Given the description of an element on the screen output the (x, y) to click on. 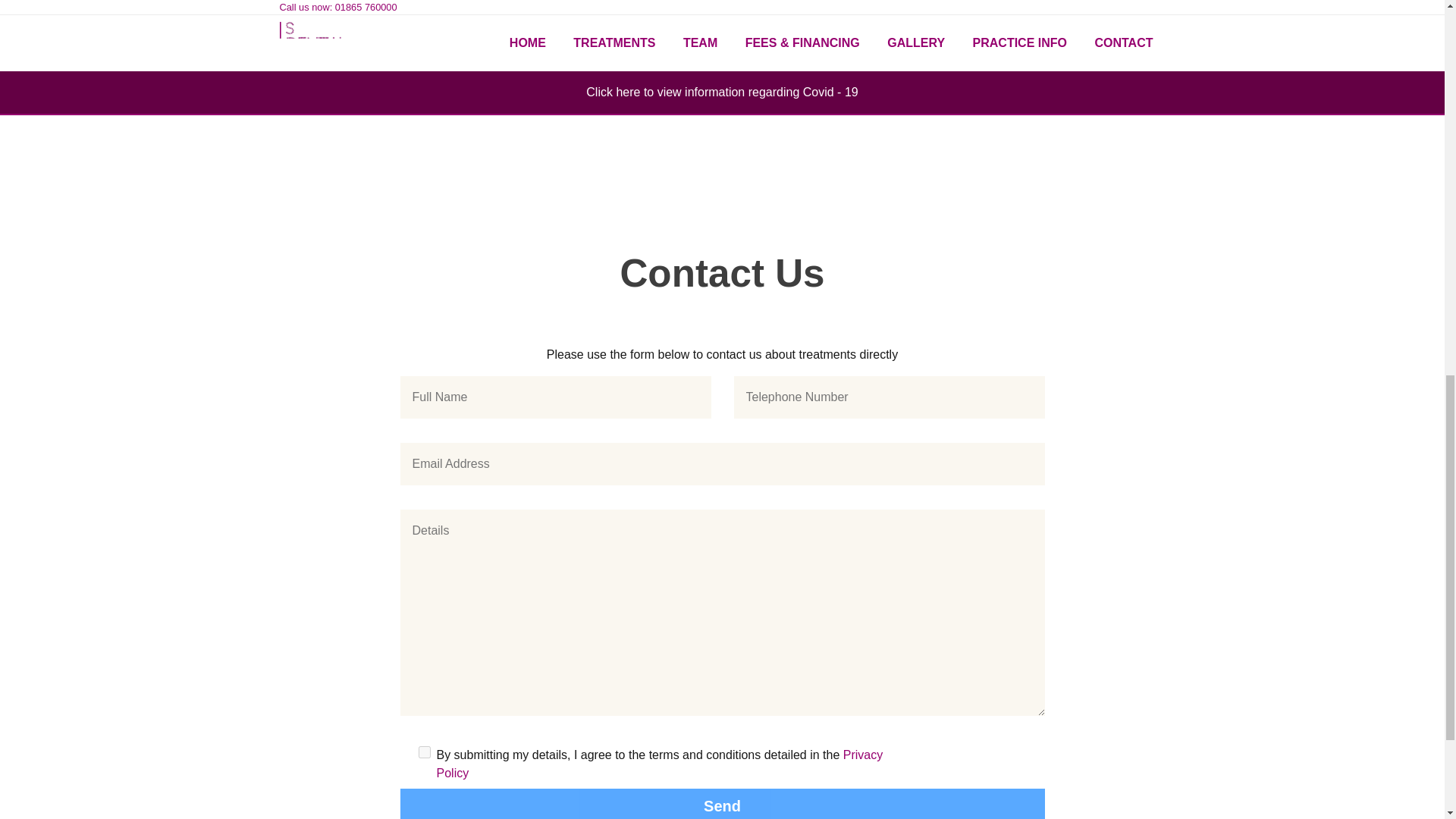
1 (424, 752)
Send (722, 803)
Send (722, 803)
Privacy Policy (659, 763)
